Given the description of an element on the screen output the (x, y) to click on. 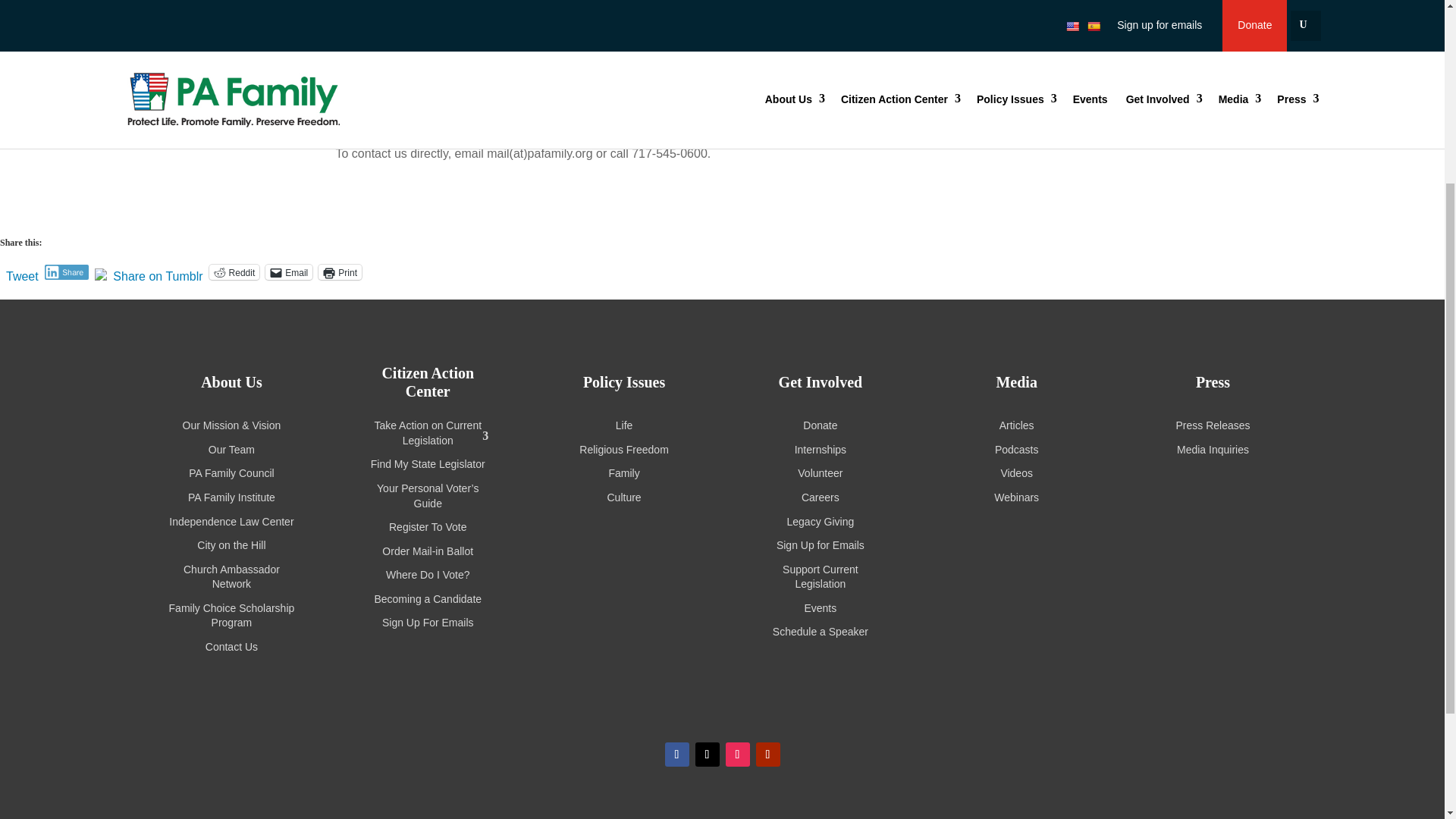
Follow on Youtube (766, 754)
Click to share on Reddit (234, 272)
Follow on Instagram (737, 754)
Click to email a link to a friend (288, 272)
Share on Tumblr (157, 271)
Follow on X (706, 754)
Follow on Facebook (675, 754)
Click to print (339, 272)
